Given the description of an element on the screen output the (x, y) to click on. 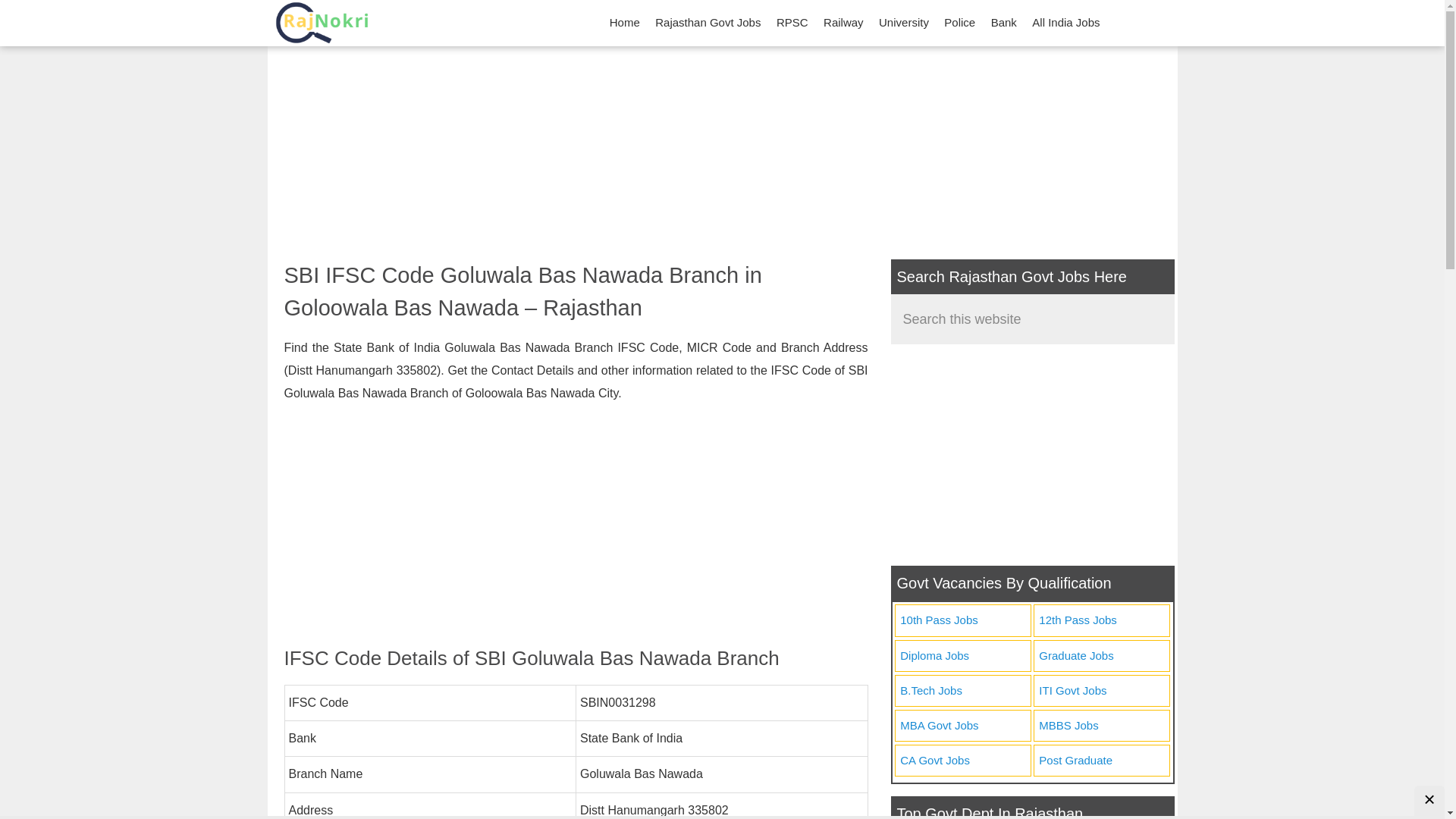
Diploma Jobs (962, 655)
B.Tech Jobs (962, 690)
Rajasthan Sarkari Naukri (320, 22)
12th Pass Jobs (1101, 620)
All India Jobs (1065, 22)
ITI Govt Jobs (1101, 690)
Advertisement (575, 525)
Rajasthan Govt Jobs (708, 22)
MBBS Jobs (1101, 726)
Graduate Jobs (1101, 655)
RPSC (791, 22)
University (903, 22)
